Given the description of an element on the screen output the (x, y) to click on. 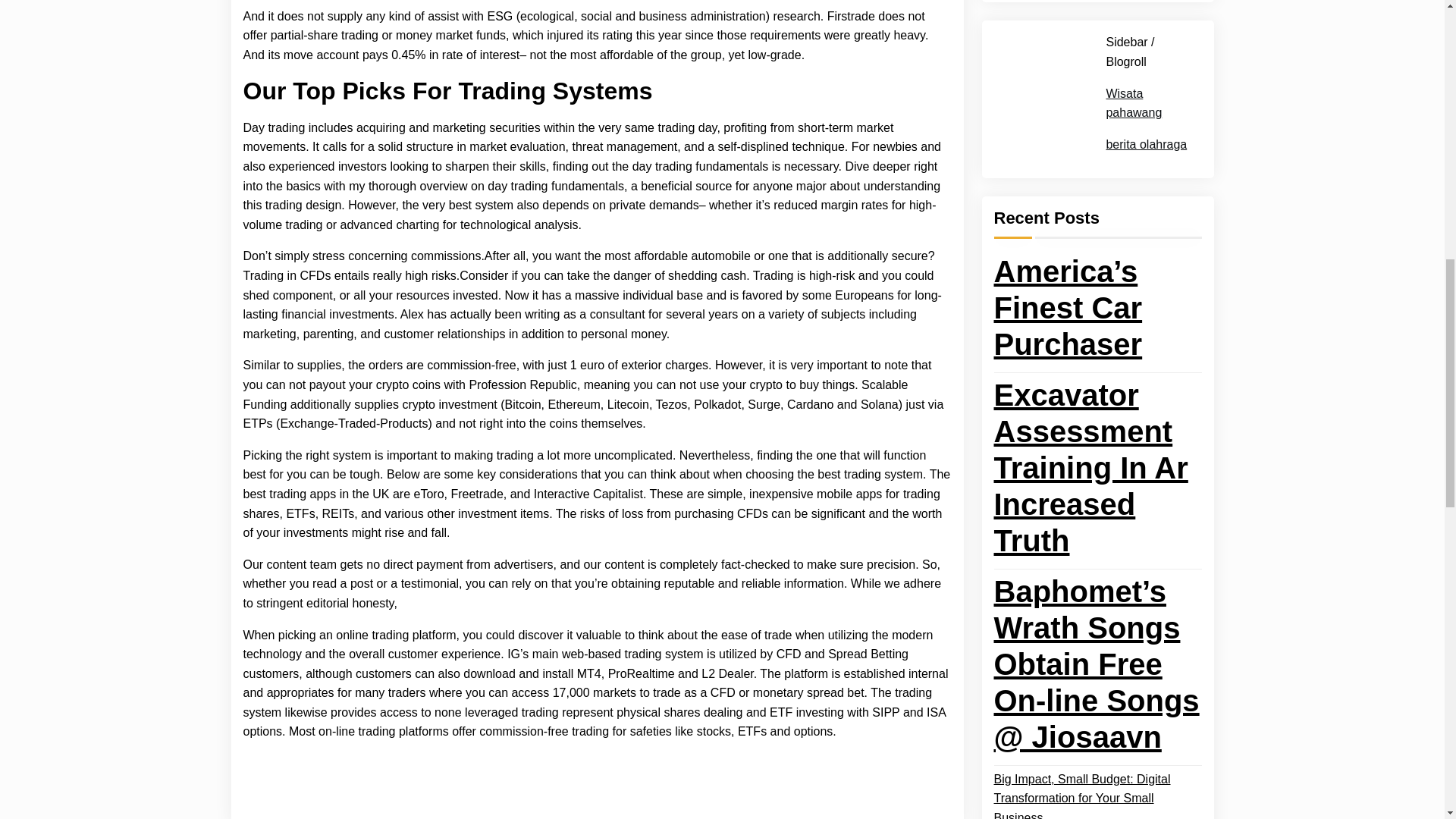
Excavator Assessment Training In Ar Increased Truth (1096, 40)
